Given the description of an element on the screen output the (x, y) to click on. 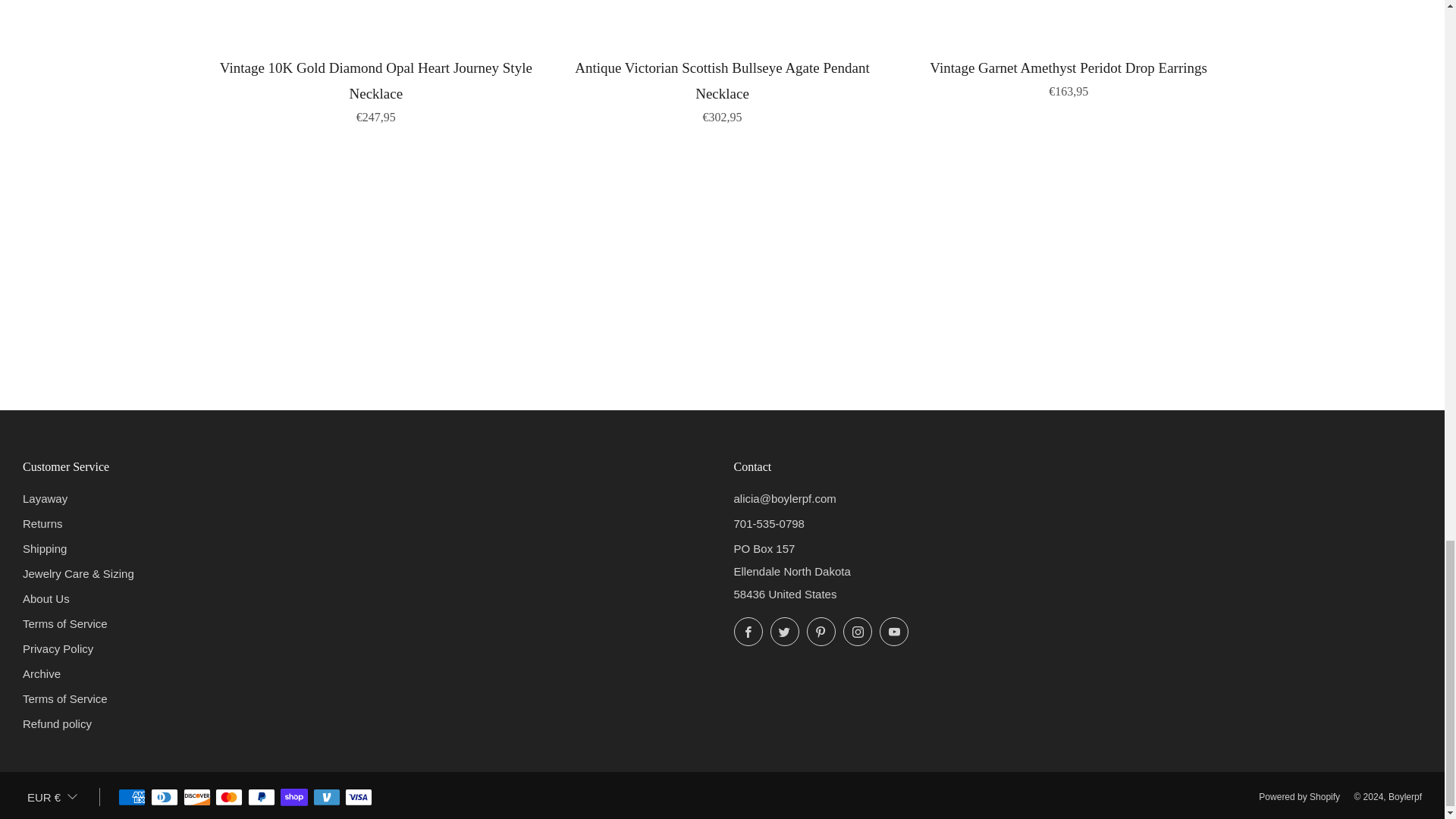
Vintage Garnet Amethyst Peridot Drop Earrings (1068, 76)
Antique Victorian Scottish Bullseye Agate Pendant Necklace (721, 89)
Vintage 10K Gold Diamond Opal Heart Journey Style Necklace (376, 89)
